Given the description of an element on the screen output the (x, y) to click on. 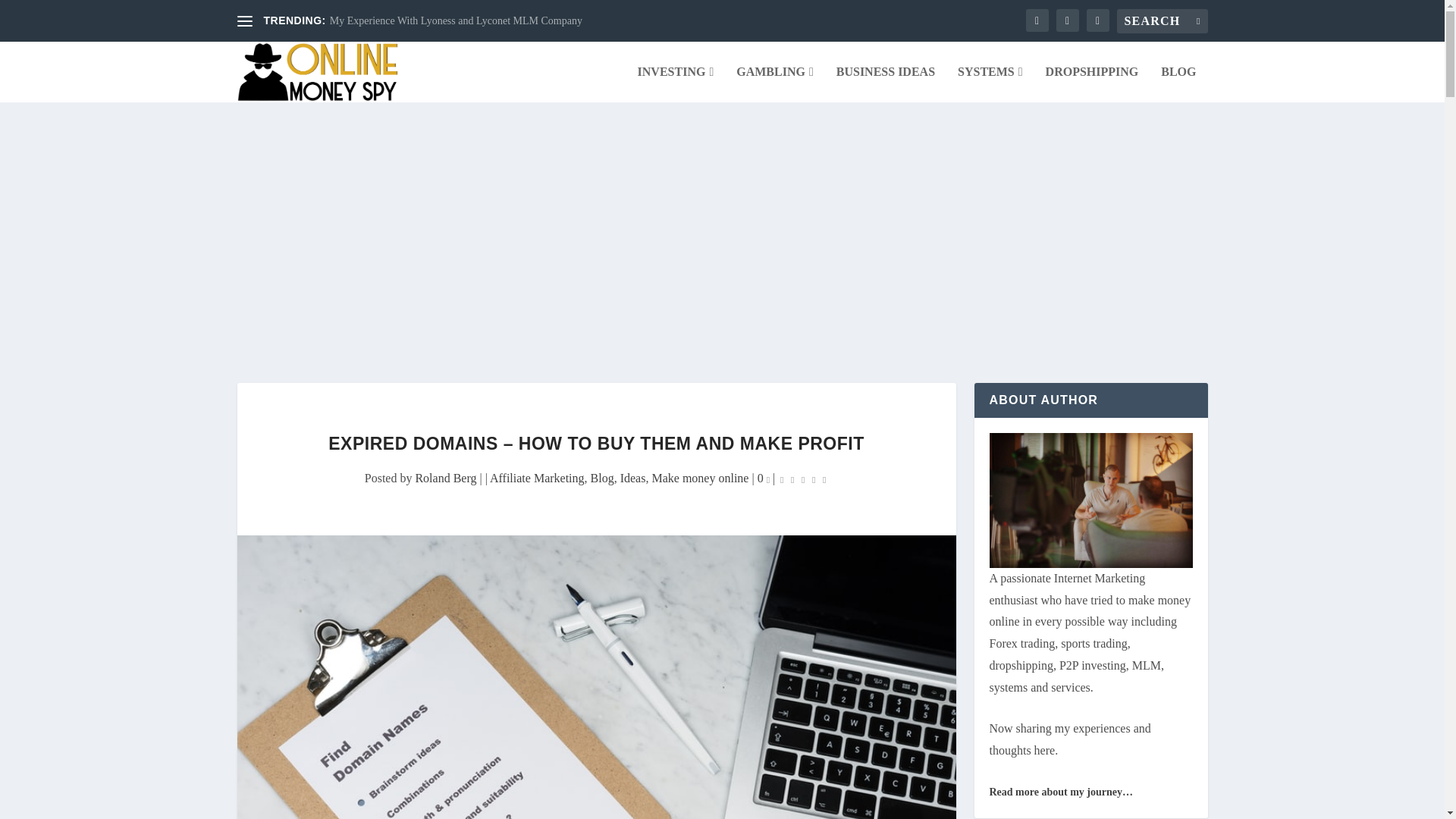
Search for: (1161, 21)
SYSTEMS (990, 84)
Rating: 5.00 (802, 478)
GAMBLING (774, 84)
Posts by Roland Berg (445, 477)
My Experience With Lyoness and Lyconet MLM Company (456, 20)
DROPSHIPPING (1091, 84)
BUSINESS IDEAS (884, 84)
INVESTING (675, 84)
